Given the description of an element on the screen output the (x, y) to click on. 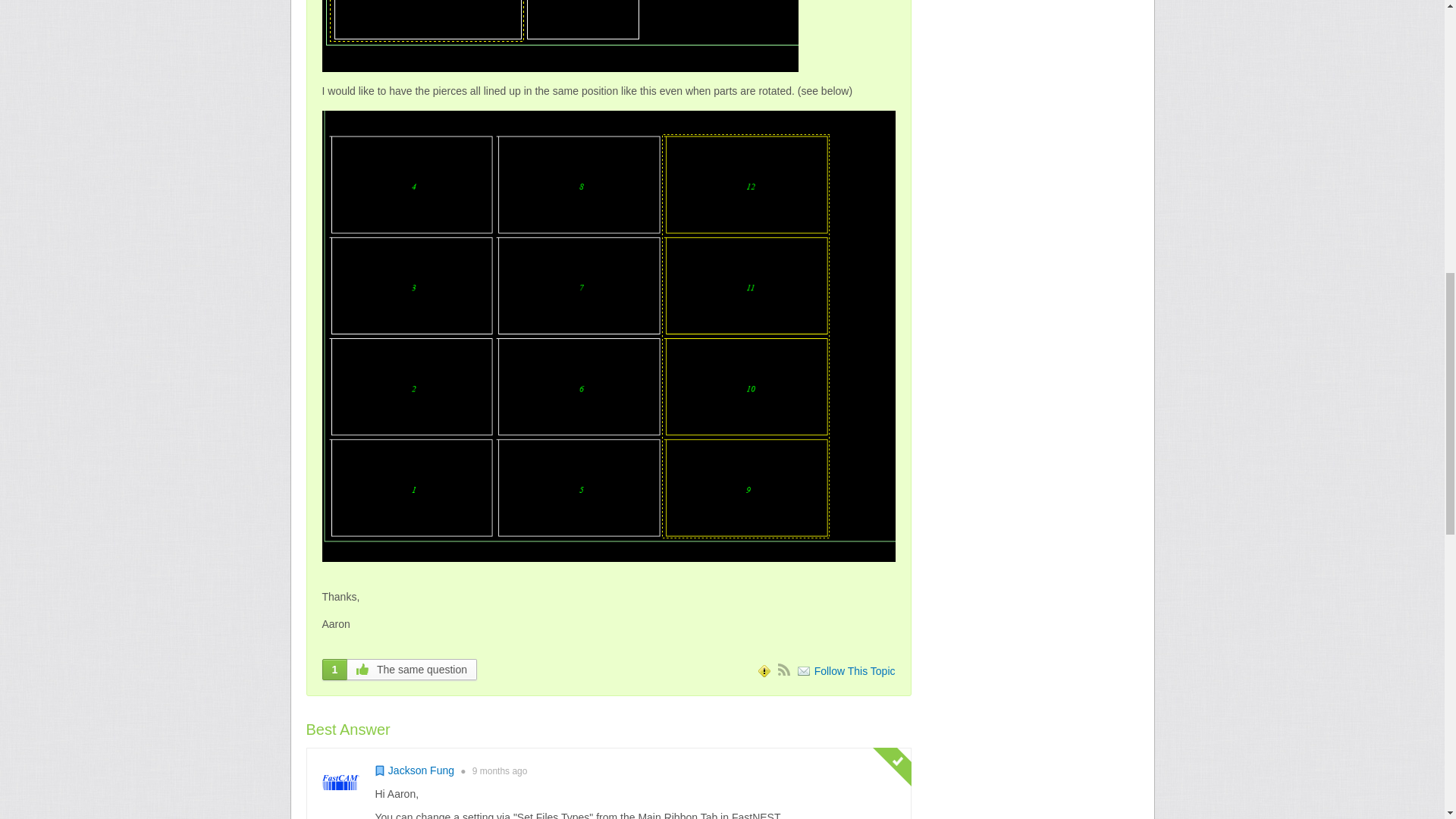
1 The same question (399, 669)
Follow This Topic (846, 670)
Jackson Fung (421, 770)
